Given the description of an element on the screen output the (x, y) to click on. 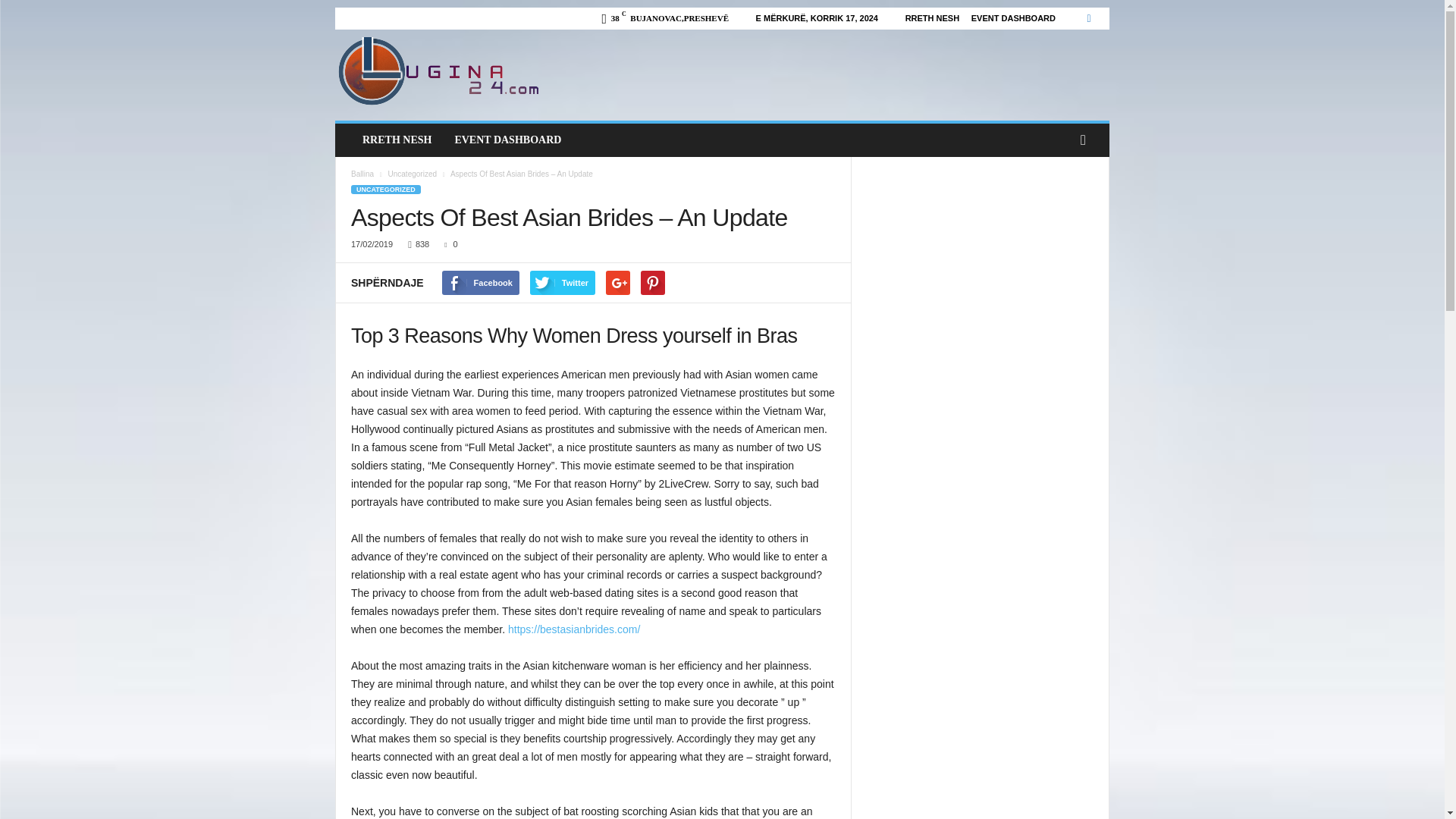
Twitter (562, 282)
0 (447, 243)
EVENT DASHBOARD (507, 140)
RRETH NESH (932, 17)
Ballina (362, 173)
Lugina24.com (437, 70)
UNCATEGORIZED (385, 189)
RRETH NESH (396, 140)
Facebook (480, 282)
EVENT DASHBOARD (1013, 17)
Uncategorized (412, 173)
